Given the description of an element on the screen output the (x, y) to click on. 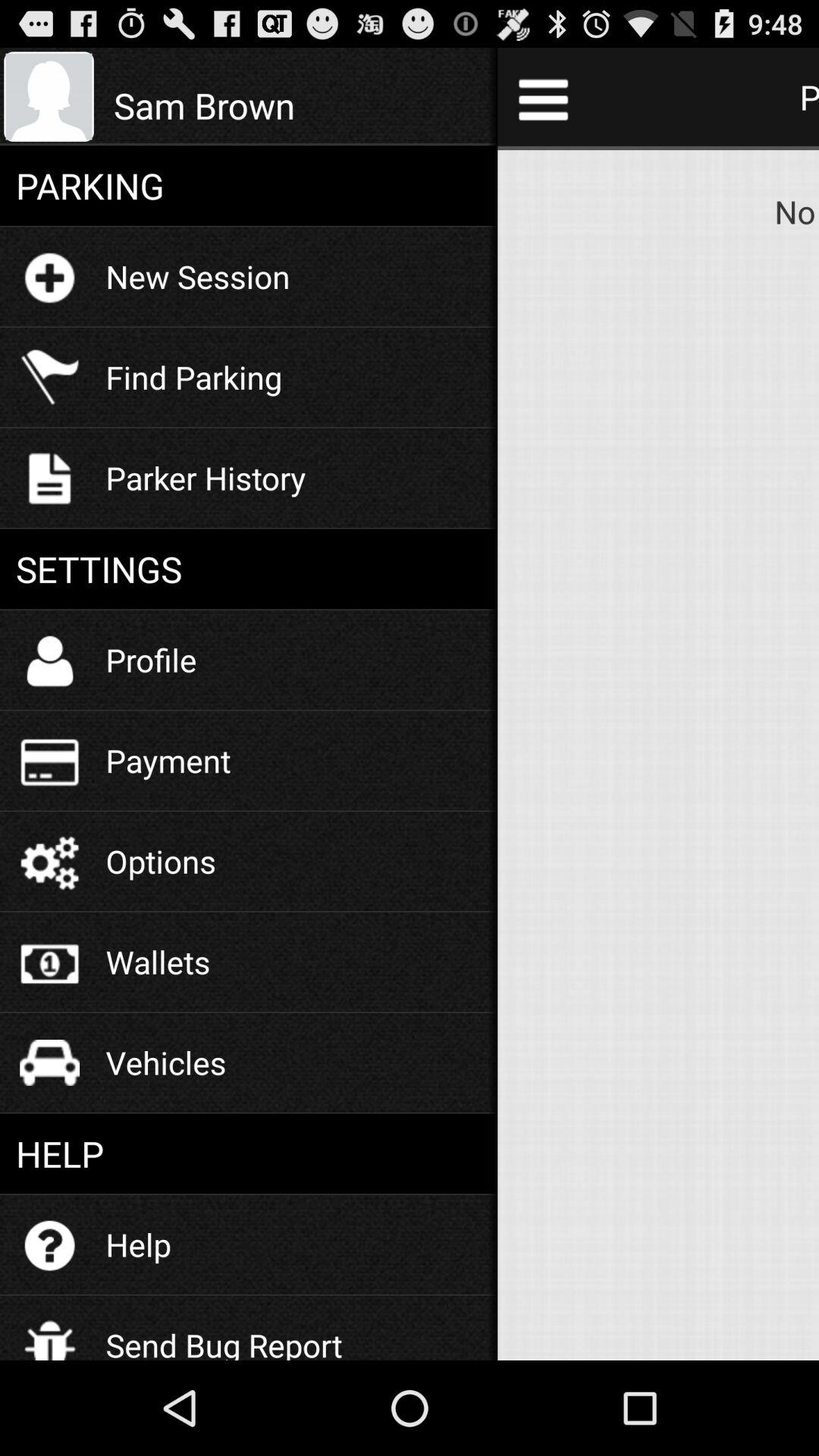
launch the profile item (150, 659)
